Given the description of an element on the screen output the (x, y) to click on. 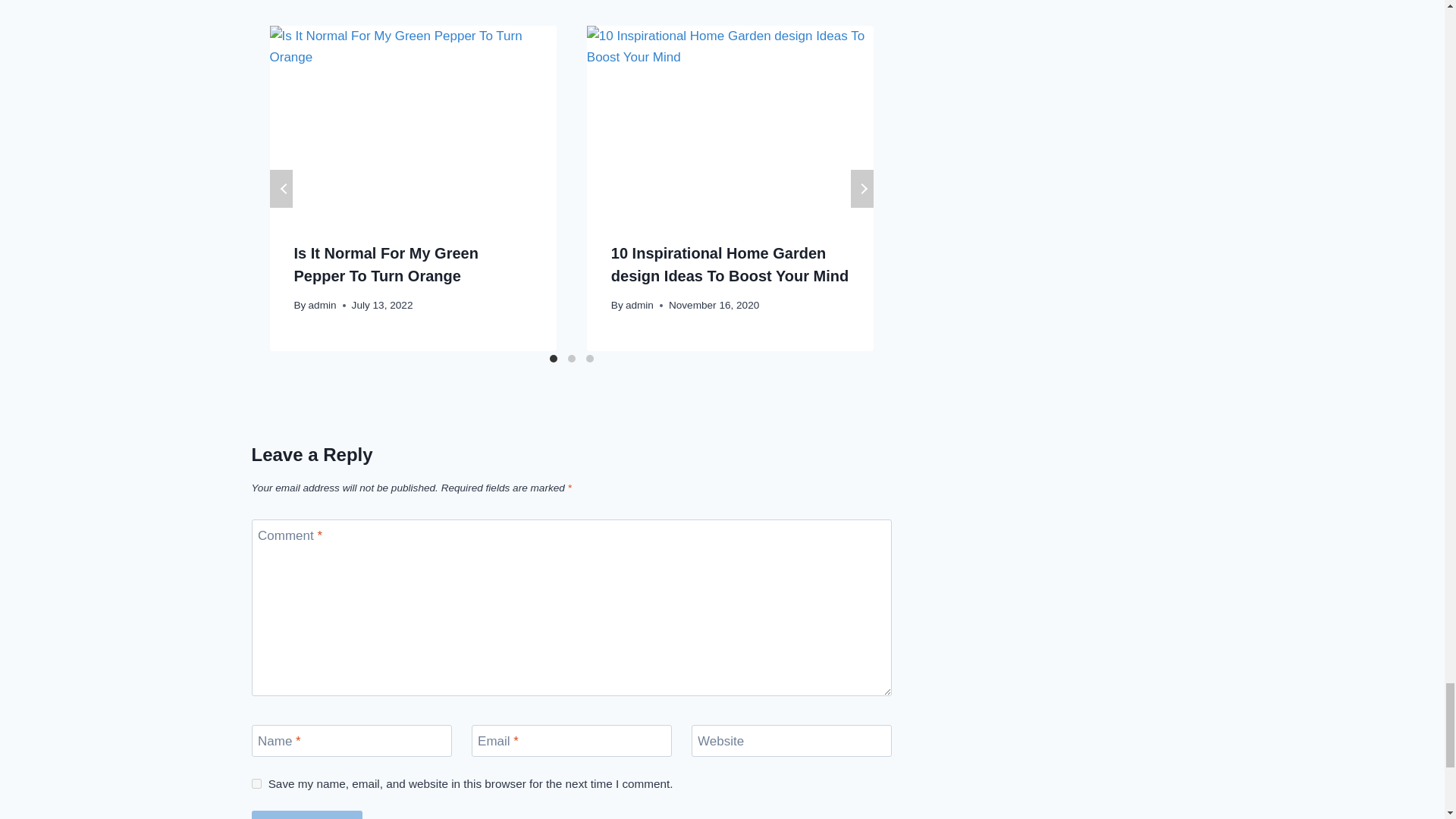
10 Inspirational Home Garden design Ideas To Boost Your Mind (729, 264)
yes (256, 783)
admin (322, 305)
Is It Normal For My Green Pepper To Turn Orange (386, 264)
Post Comment (306, 814)
